Given the description of an element on the screen output the (x, y) to click on. 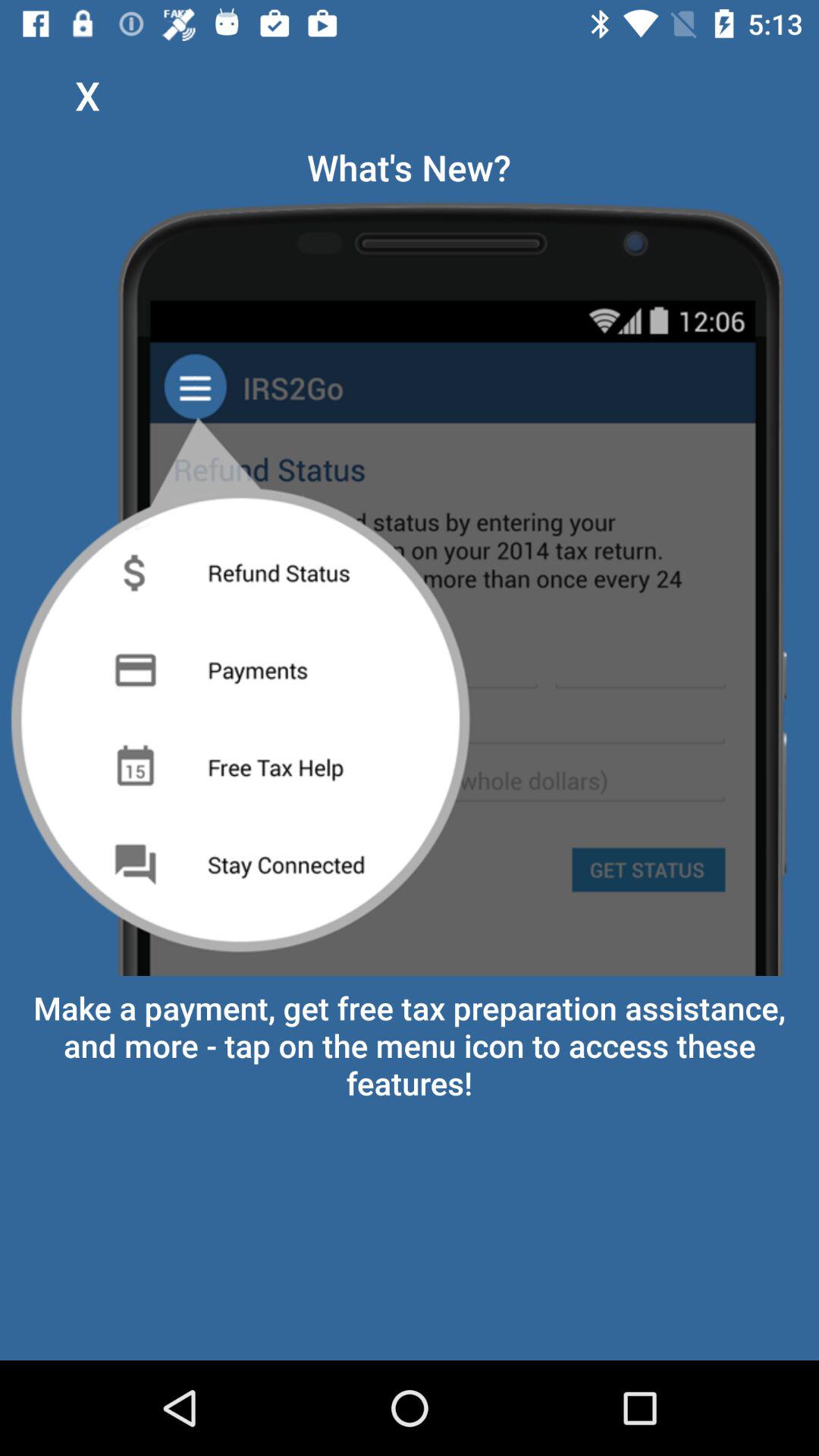
open item at the top left corner (87, 95)
